Given the description of an element on the screen output the (x, y) to click on. 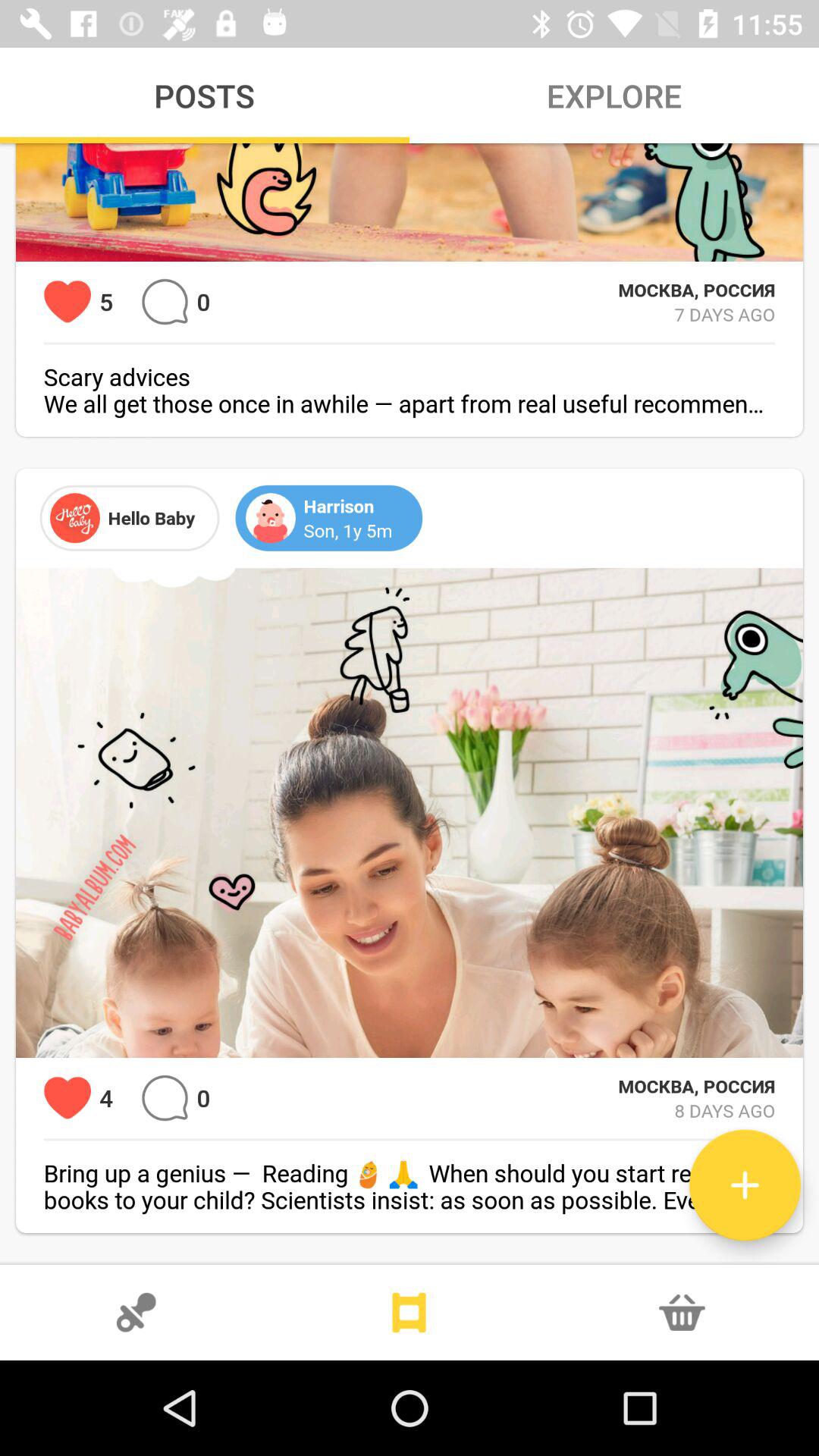
create a new post (744, 1185)
